Given the description of an element on the screen output the (x, y) to click on. 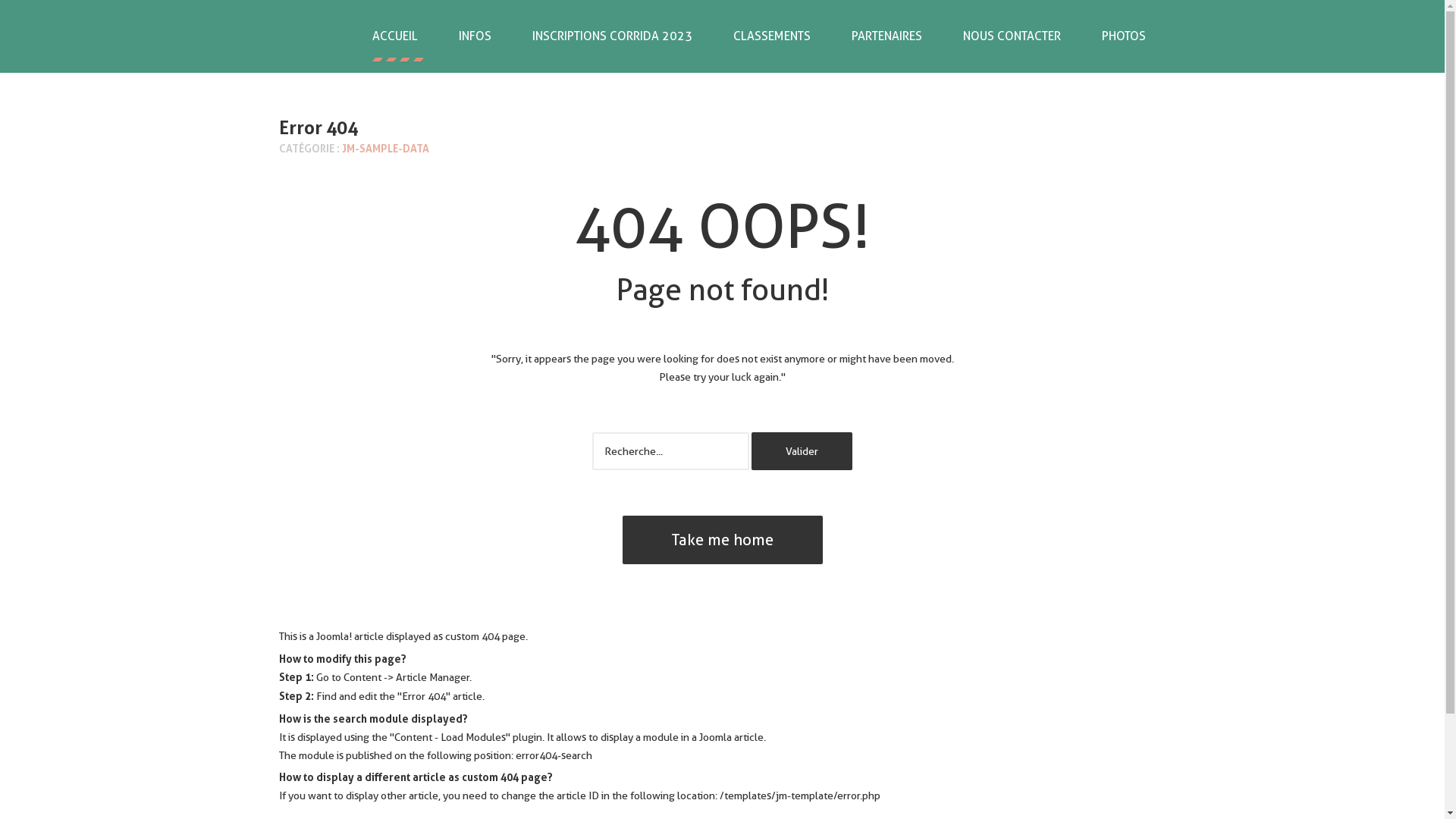
Valider Element type: text (801, 451)
INFOS Element type: text (474, 36)
CLASSEMENTS Element type: text (771, 36)
INSCRIPTIONS CORRIDA 2023 Element type: text (611, 36)
PHOTOS Element type: text (1123, 36)
PARTENAIRES Element type: text (886, 36)
JM-SAMPLE-DATA Element type: text (384, 147)
ACCUEIL Element type: text (394, 36)
Take me home Element type: text (721, 539)
NOUS CONTACTER Element type: text (1010, 36)
